Given the description of an element on the screen output the (x, y) to click on. 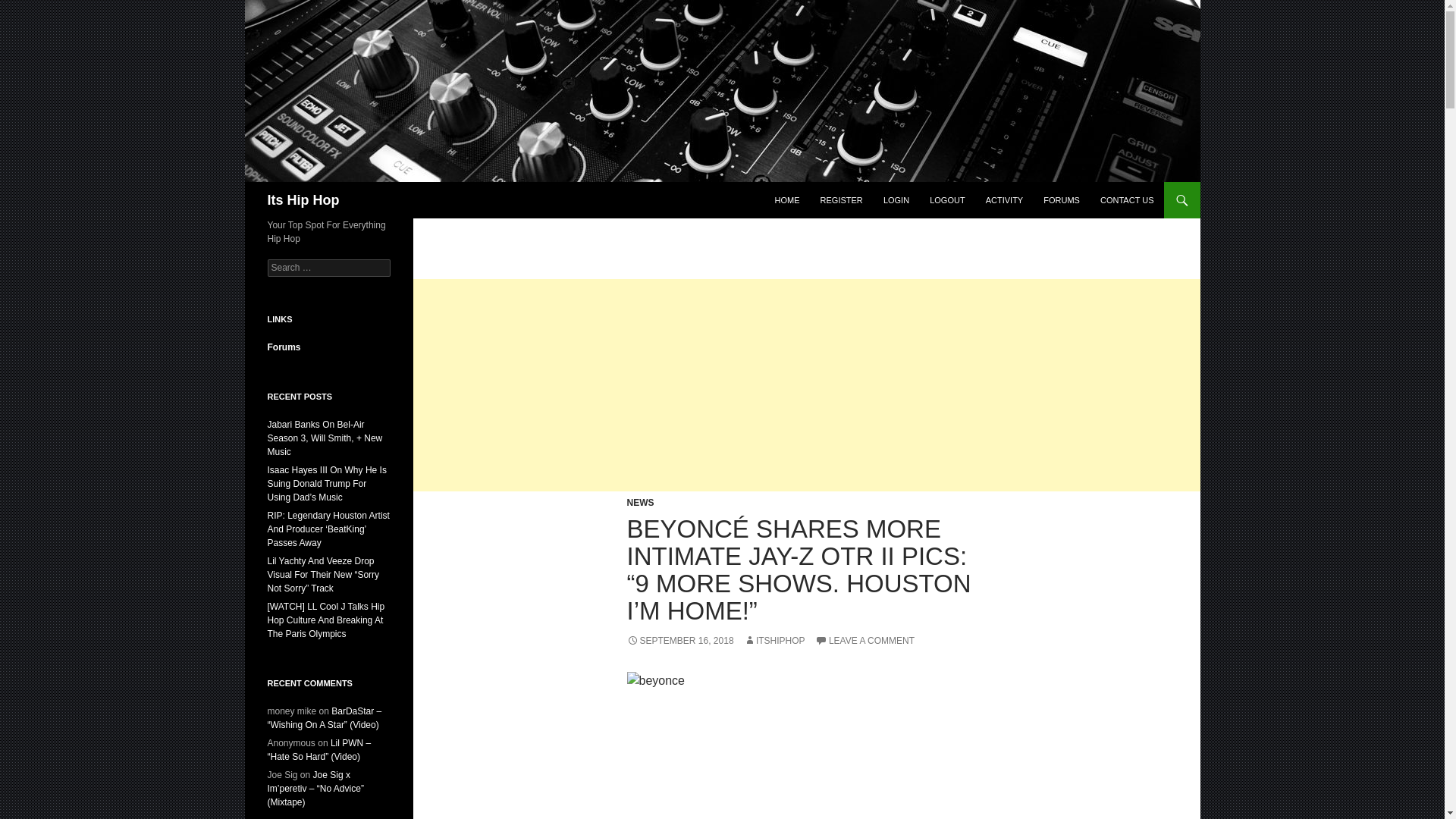
LOGIN (896, 199)
ACTIVITY (1004, 199)
REGISTER (841, 199)
LEAVE A COMMENT (864, 640)
HOME (787, 199)
CONTACT US (1126, 199)
SEPTEMBER 16, 2018 (679, 640)
ITSHIPHOP (774, 640)
